Given the description of an element on the screen output the (x, y) to click on. 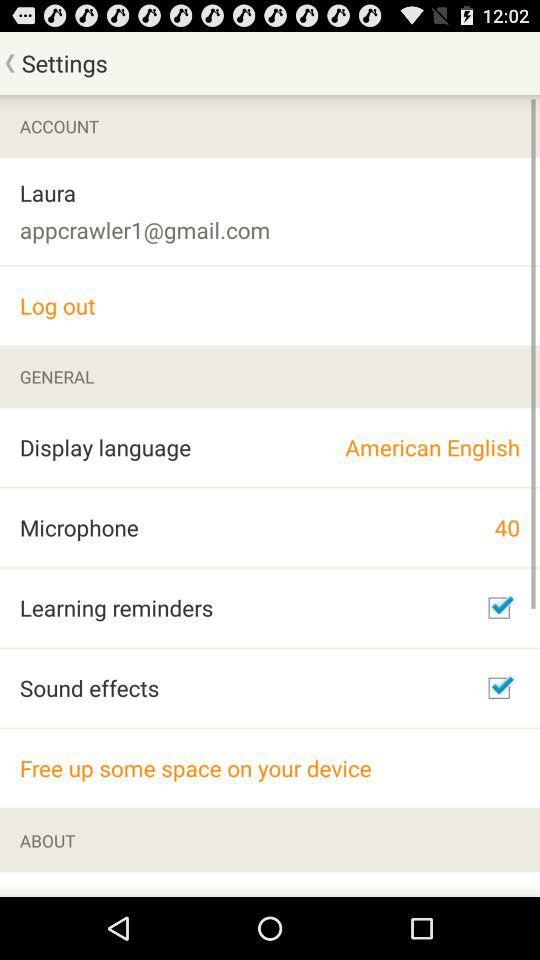
toggle sound effects option (499, 687)
